Given the description of an element on the screen output the (x, y) to click on. 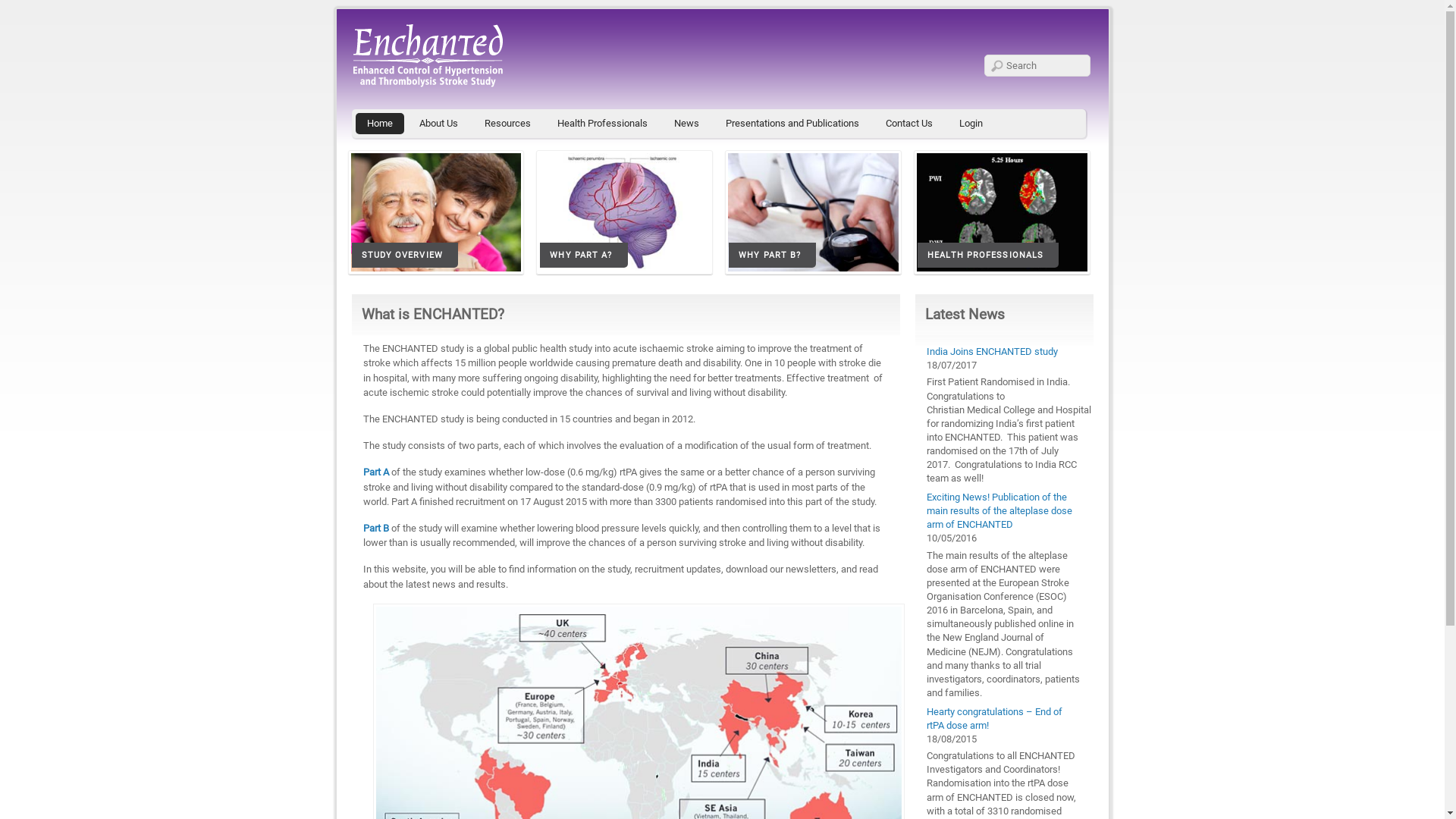
India Joins ENCHANTED study Element type: text (991, 351)
HEALTH PROFESSIONALS Element type: text (1002, 217)
Contact Us Element type: text (908, 123)
Resources Element type: text (507, 123)
STUDY OVERVIEW Element type: text (436, 217)
Health Professionals Element type: text (602, 123)
News Element type: text (686, 123)
Home Element type: text (378, 123)
WHY PART A? Element type: text (624, 217)
Part B Element type: text (376, 527)
About Us Element type: text (438, 123)
WHY PART B? Element type: text (813, 217)
Login Element type: text (970, 123)
Presentations and Publications Element type: text (792, 123)
Part A Element type: text (377, 471)
